Given the description of an element on the screen output the (x, y) to click on. 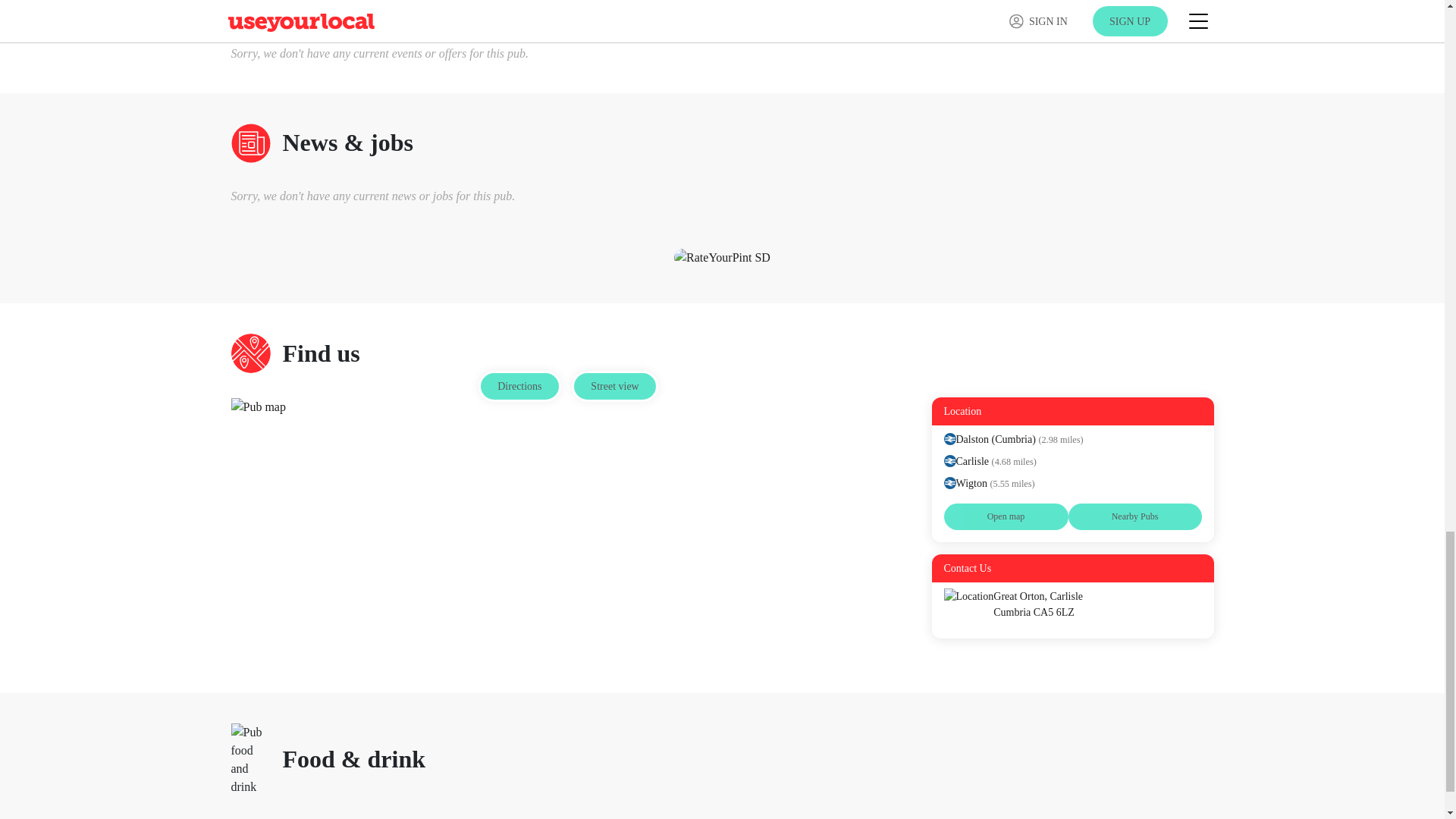
National Rail (949, 439)
National Rail (949, 482)
National Rail (949, 460)
